Given the description of an element on the screen output the (x, y) to click on. 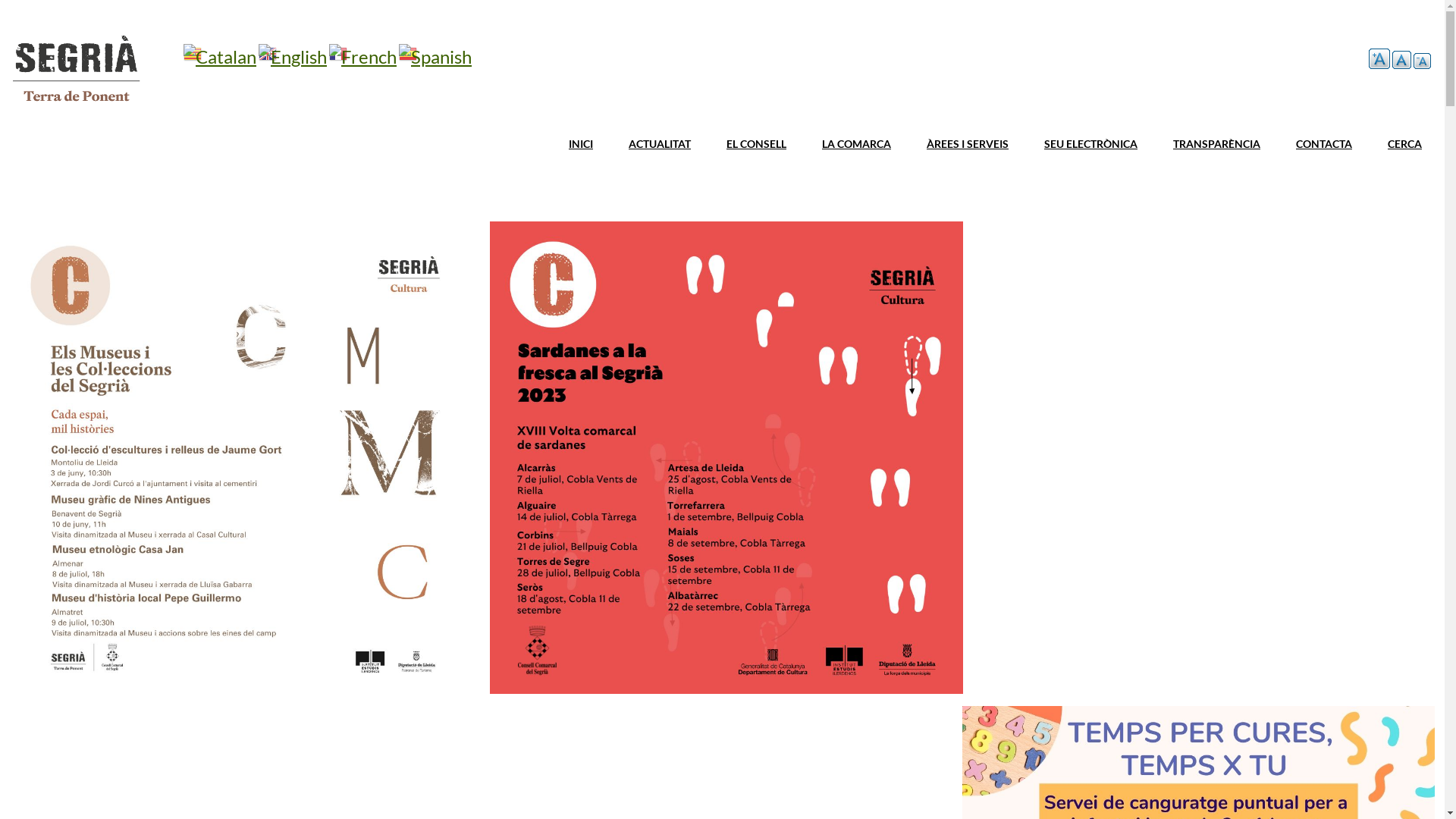
A Element type: text (1401, 59)
CONTACTA Element type: text (1324, 143)
Catalan Element type: hover (219, 56)
Inici Element type: hover (75, 103)
Spanish Element type: hover (434, 56)
English Element type: hover (292, 56)
ACTUALITAT Element type: text (659, 143)
CERCA Element type: text (1404, 143)
French Element type: hover (362, 56)
LA COMARCA Element type: text (856, 143)
INICI Element type: text (580, 143)
A Element type: text (1379, 58)
EL CONSELL Element type: text (756, 143)
A Element type: text (1421, 61)
